Given the description of an element on the screen output the (x, y) to click on. 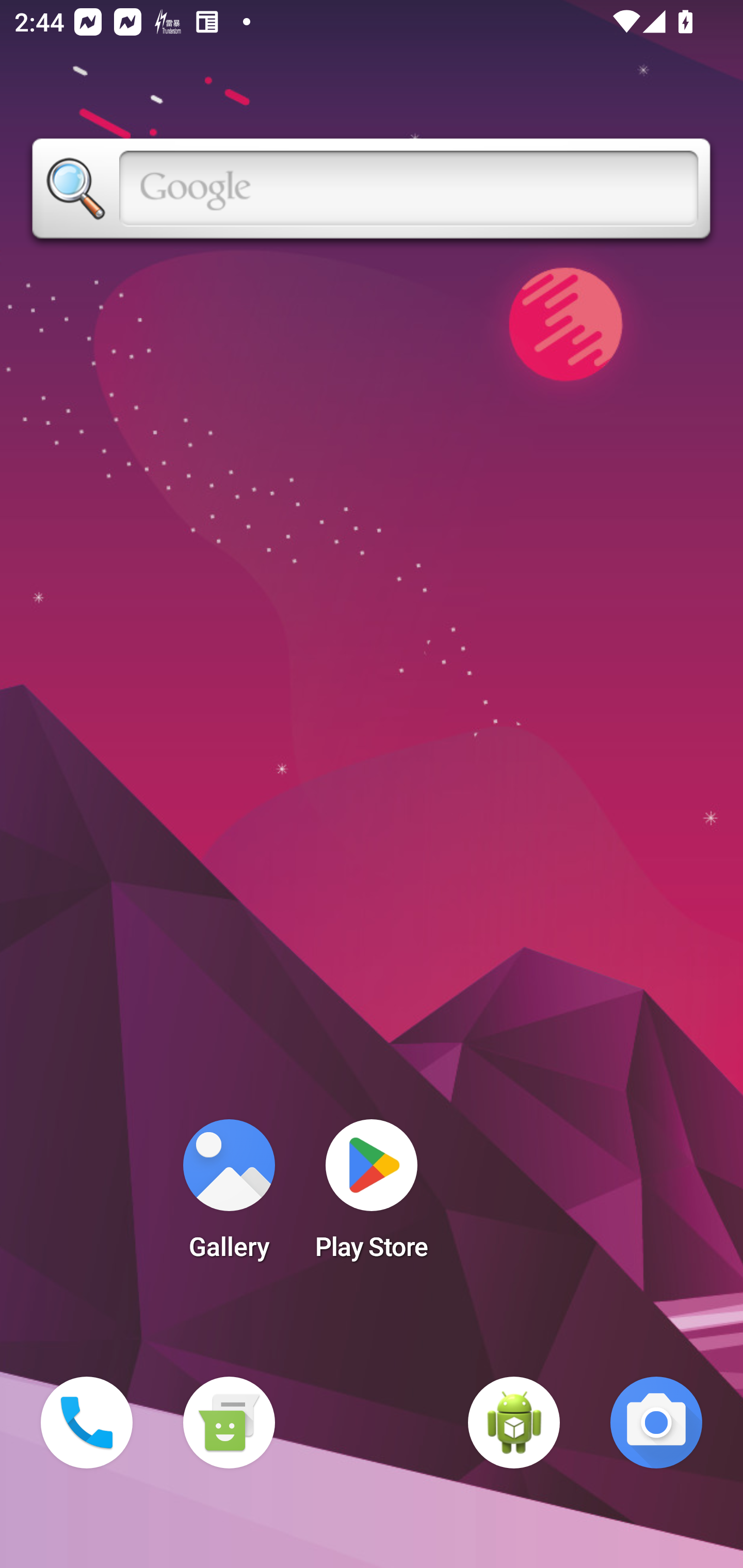
Gallery (228, 1195)
Play Store (371, 1195)
Phone (86, 1422)
Messaging (228, 1422)
WebView Browser Tester (513, 1422)
Camera (656, 1422)
